Given the description of an element on the screen output the (x, y) to click on. 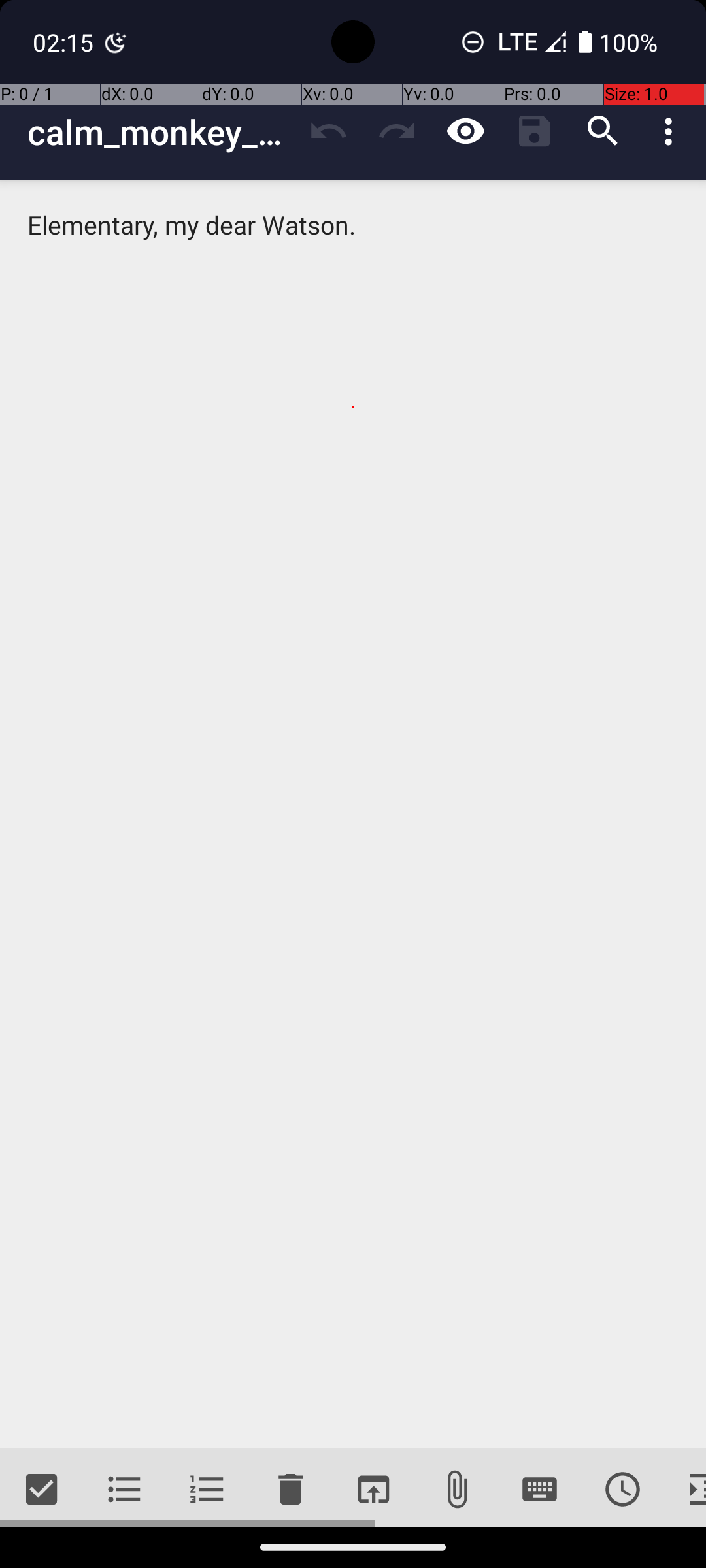
calm_monkey_2023_06_15 Element type: android.widget.TextView (160, 131)
Elementary, my dear Watson.
 Element type: android.widget.EditText (353, 813)
02:15 Element type: android.widget.TextView (64, 41)
Digital Wellbeing notification: Bedtime mode is on Element type: android.widget.ImageView (115, 41)
